Given the description of an element on the screen output the (x, y) to click on. 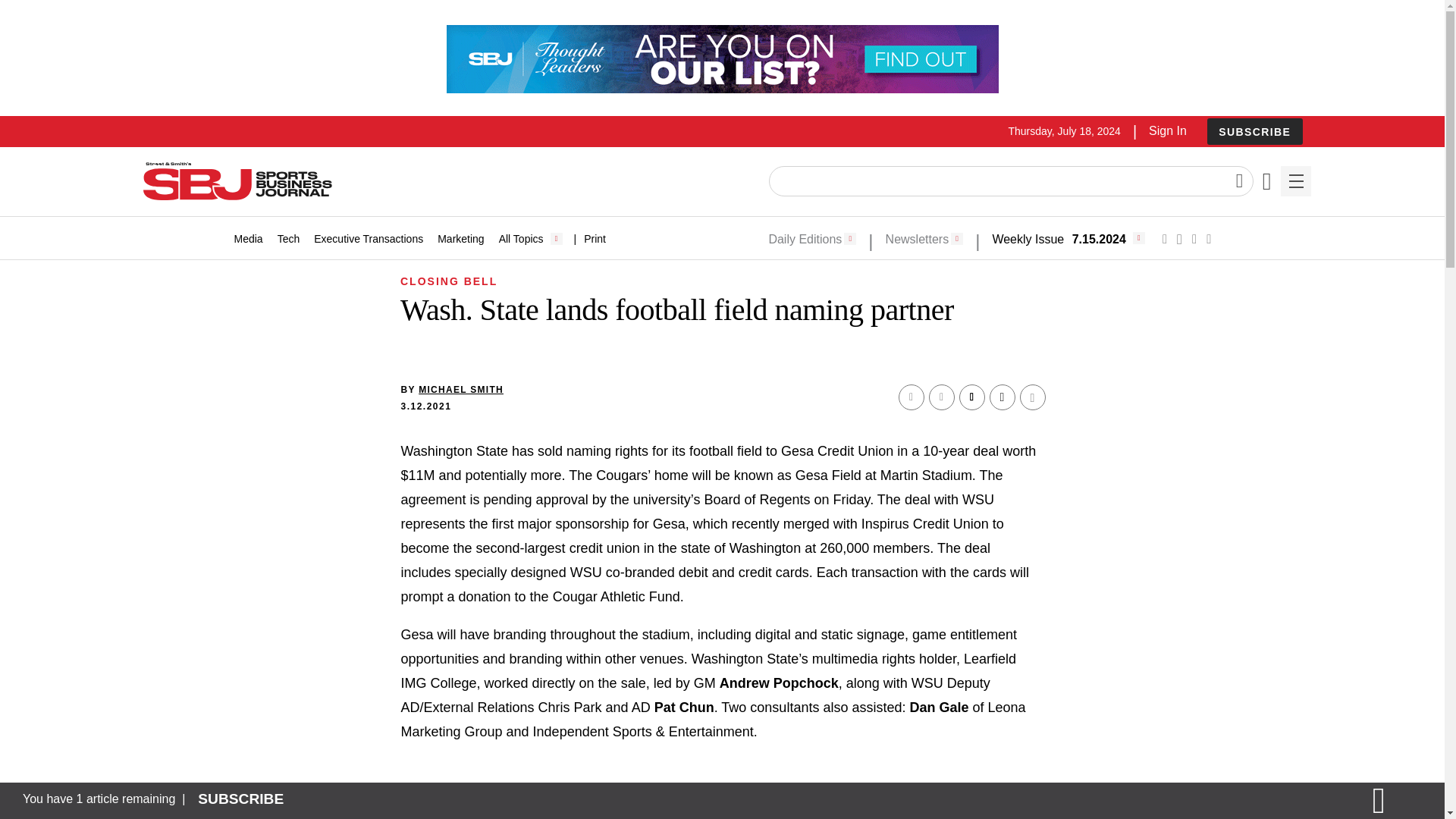
SUBSCRIBE (1255, 130)
SUBSCRIBE (1254, 131)
SIGN IN (1194, 415)
3rd party ad content (721, 59)
Sign In (1167, 131)
Menu (1294, 181)
